Given the description of an element on the screen output the (x, y) to click on. 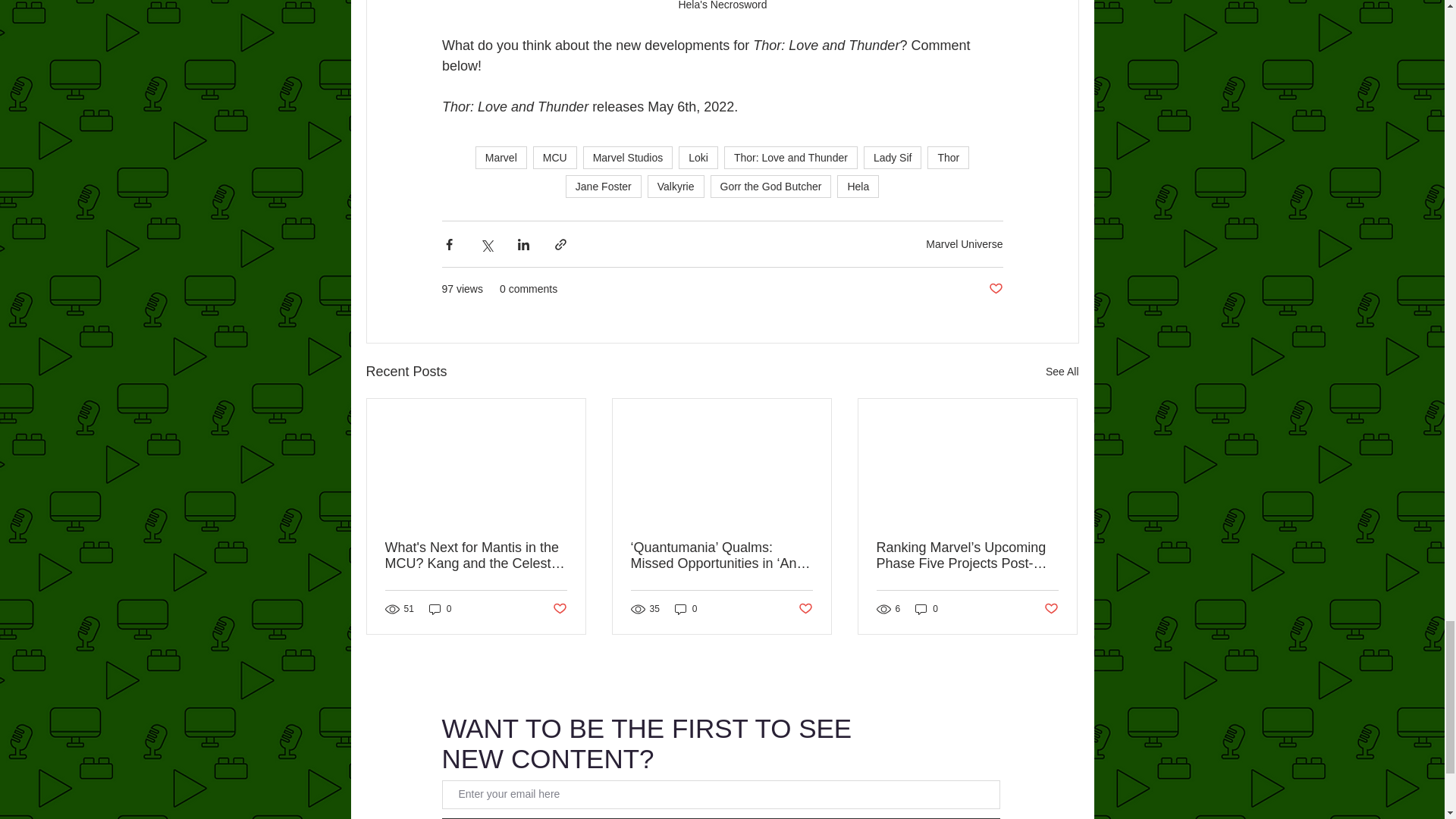
See All (1061, 372)
Loki (697, 157)
Post not marked as liked (995, 289)
Valkyrie (675, 186)
Marvel (501, 157)
Jane Foster (604, 186)
Thor (948, 157)
Marvel Universe (964, 244)
Post not marked as liked (558, 609)
Thor: Love and Thunder (790, 157)
Hela (858, 186)
0 (440, 608)
Marvel Studios (627, 157)
Lady Sif (892, 157)
